Given the description of an element on the screen output the (x, y) to click on. 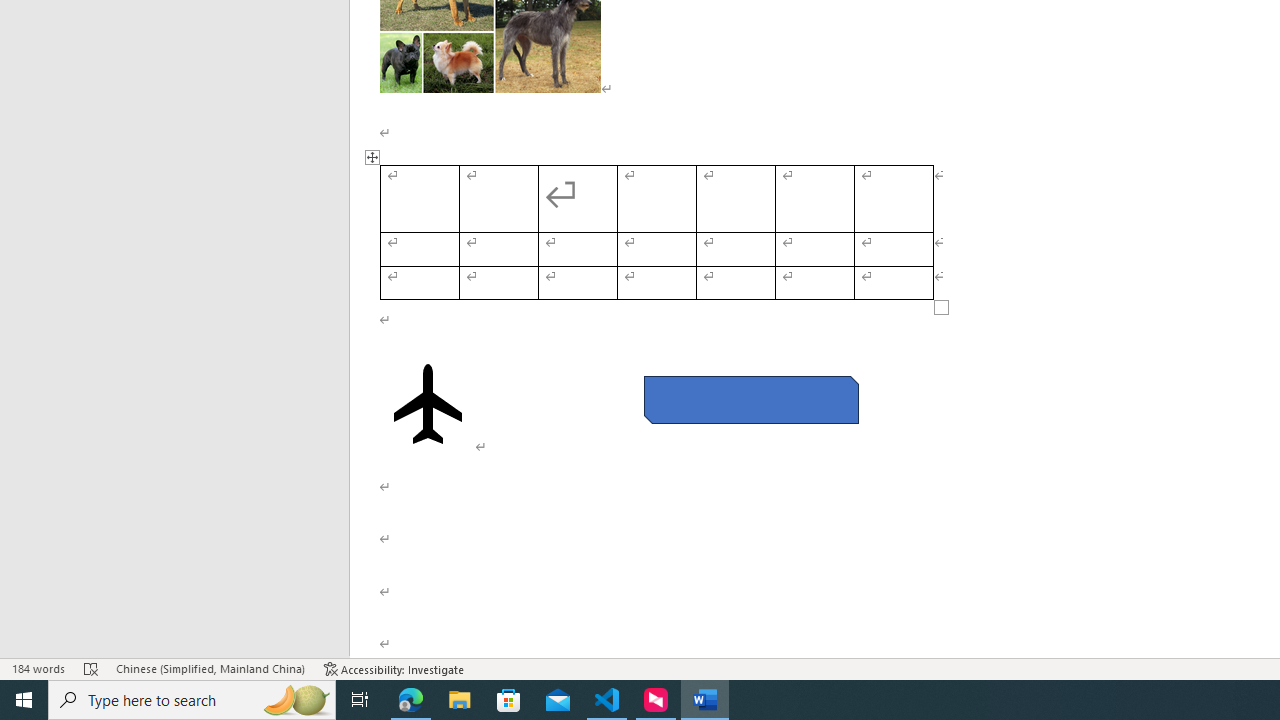
Rectangle: Diagonal Corners Snipped 2 (750, 399)
Word Count 184 words (37, 668)
